Given the description of an element on the screen output the (x, y) to click on. 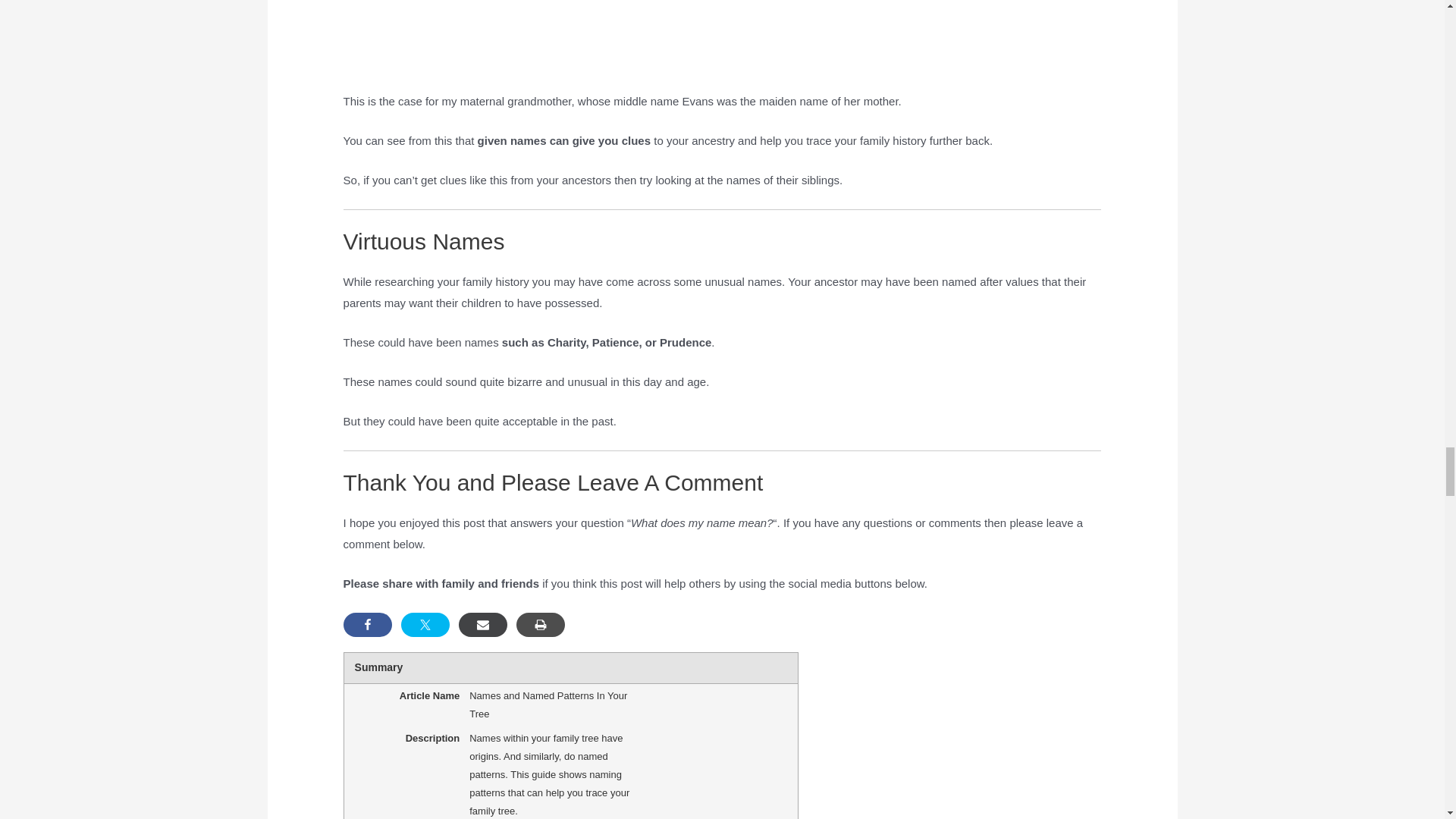
Share via Email (482, 624)
Share on Facebook (367, 624)
Share on Twitter (425, 624)
Print this Page (540, 624)
